Given the description of an element on the screen output the (x, y) to click on. 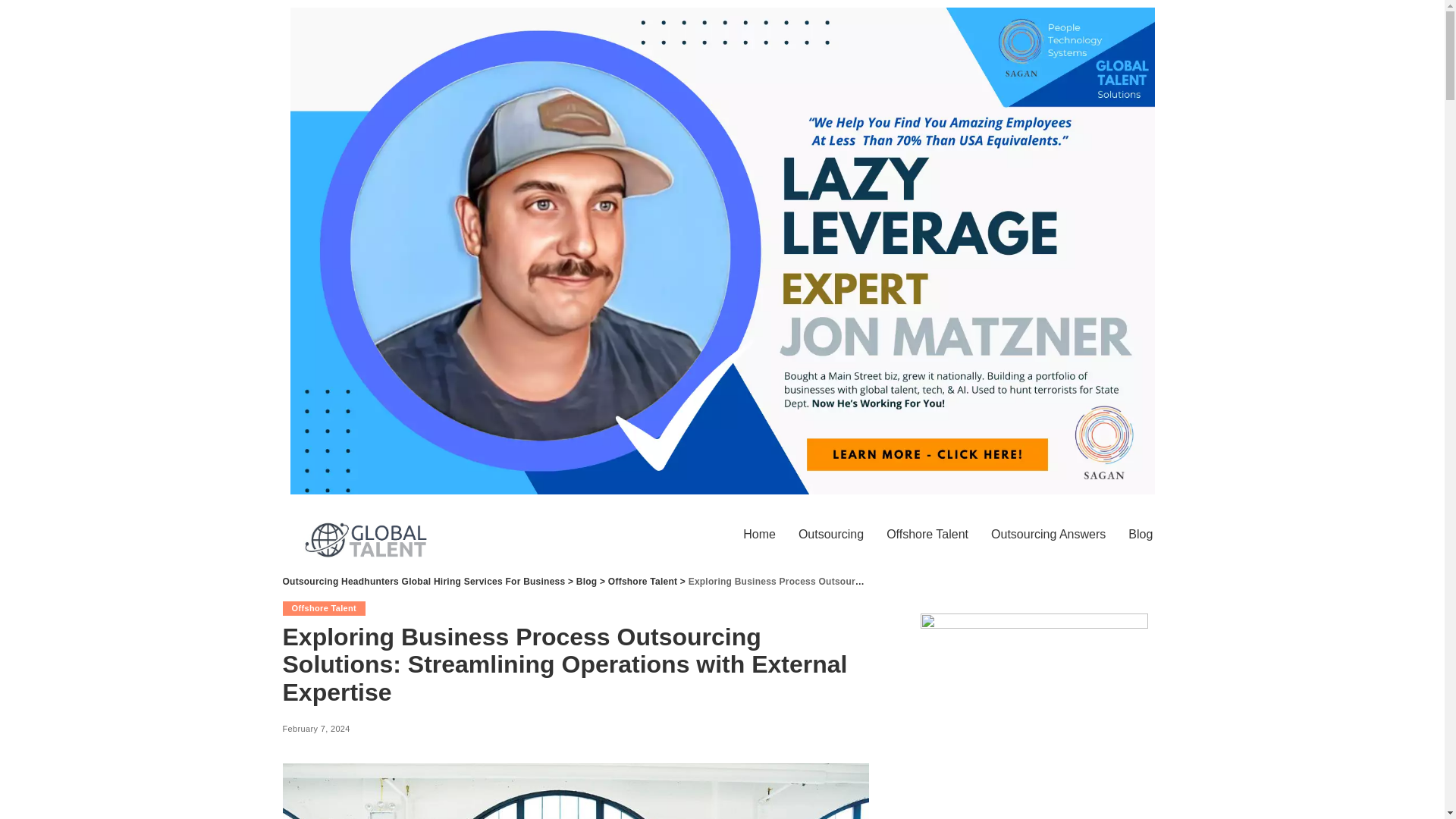
Outsourcing Answers (1047, 534)
Blog (586, 581)
Offshore Talent (642, 581)
Outsourcing Headhunters Global Hiring Services For Business (423, 581)
Outsourcing (831, 534)
Blog (1139, 534)
Go to Blog. (586, 581)
Offshore Talent (323, 607)
2024-02-07T12:07:55-05:00 (315, 728)
Offshore Talent (927, 534)
Home (759, 534)
Go to the Offshore Talent Category archives. (642, 581)
